Given the description of an element on the screen output the (x, y) to click on. 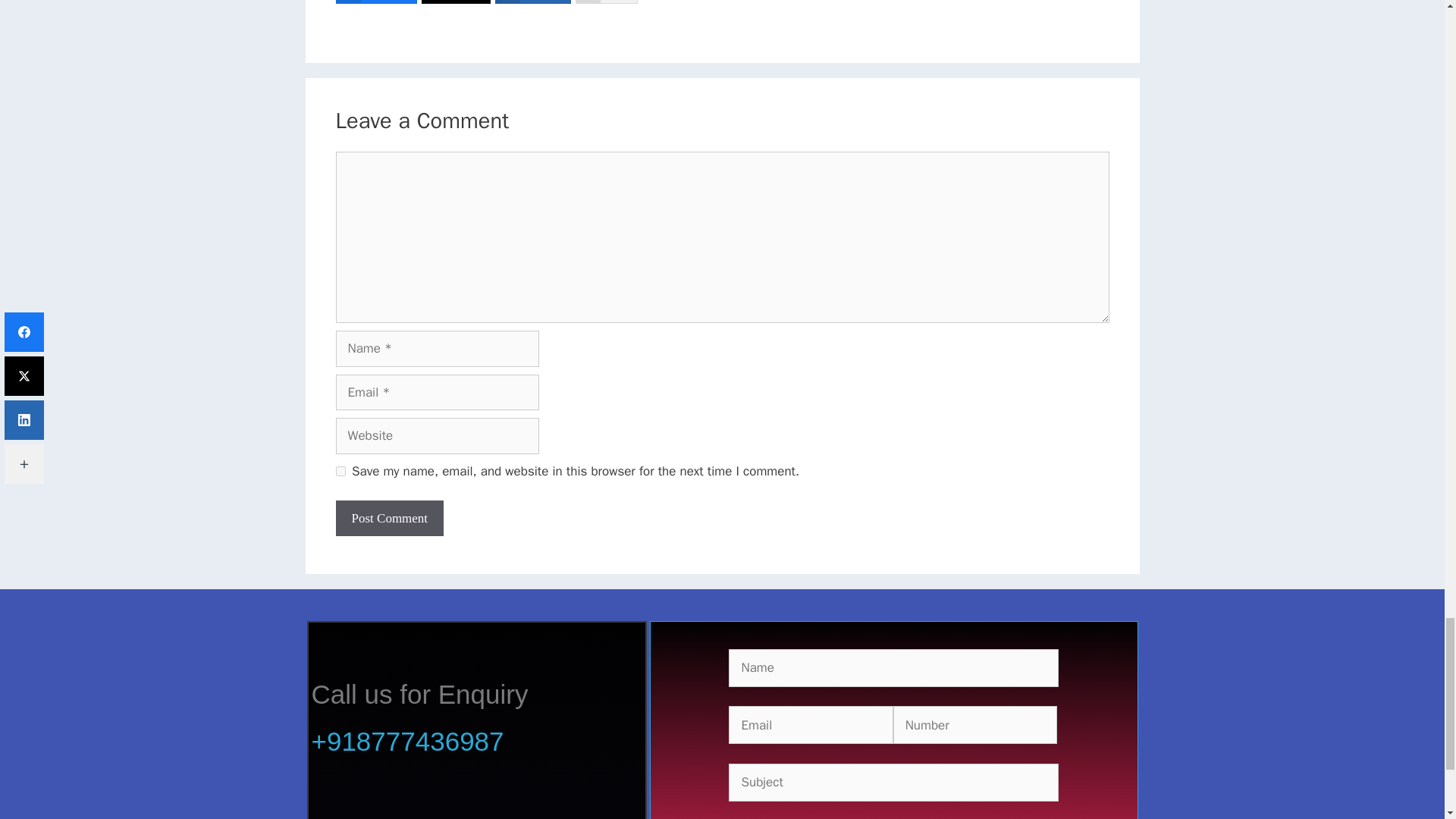
Twitter (455, 2)
Post Comment (389, 518)
More (606, 2)
Facebook (375, 2)
LinkedIn (532, 2)
yes (339, 470)
Post Comment (389, 518)
